Given the description of an element on the screen output the (x, y) to click on. 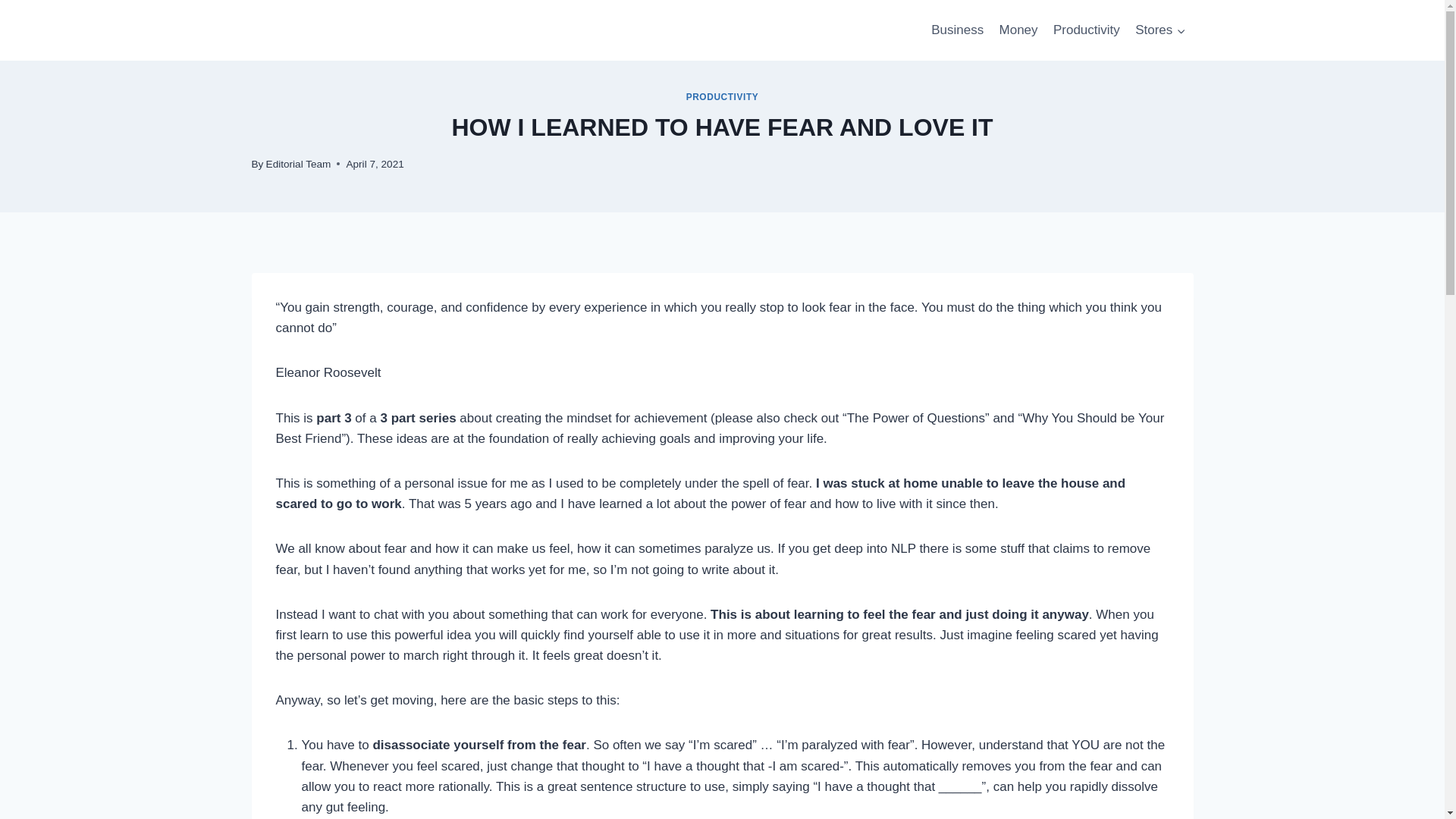
PRODUCTIVITY (721, 96)
Editorial Team (298, 163)
Business (957, 30)
Money (1018, 30)
Stores (1159, 30)
Productivity (1085, 30)
